Given the description of an element on the screen output the (x, y) to click on. 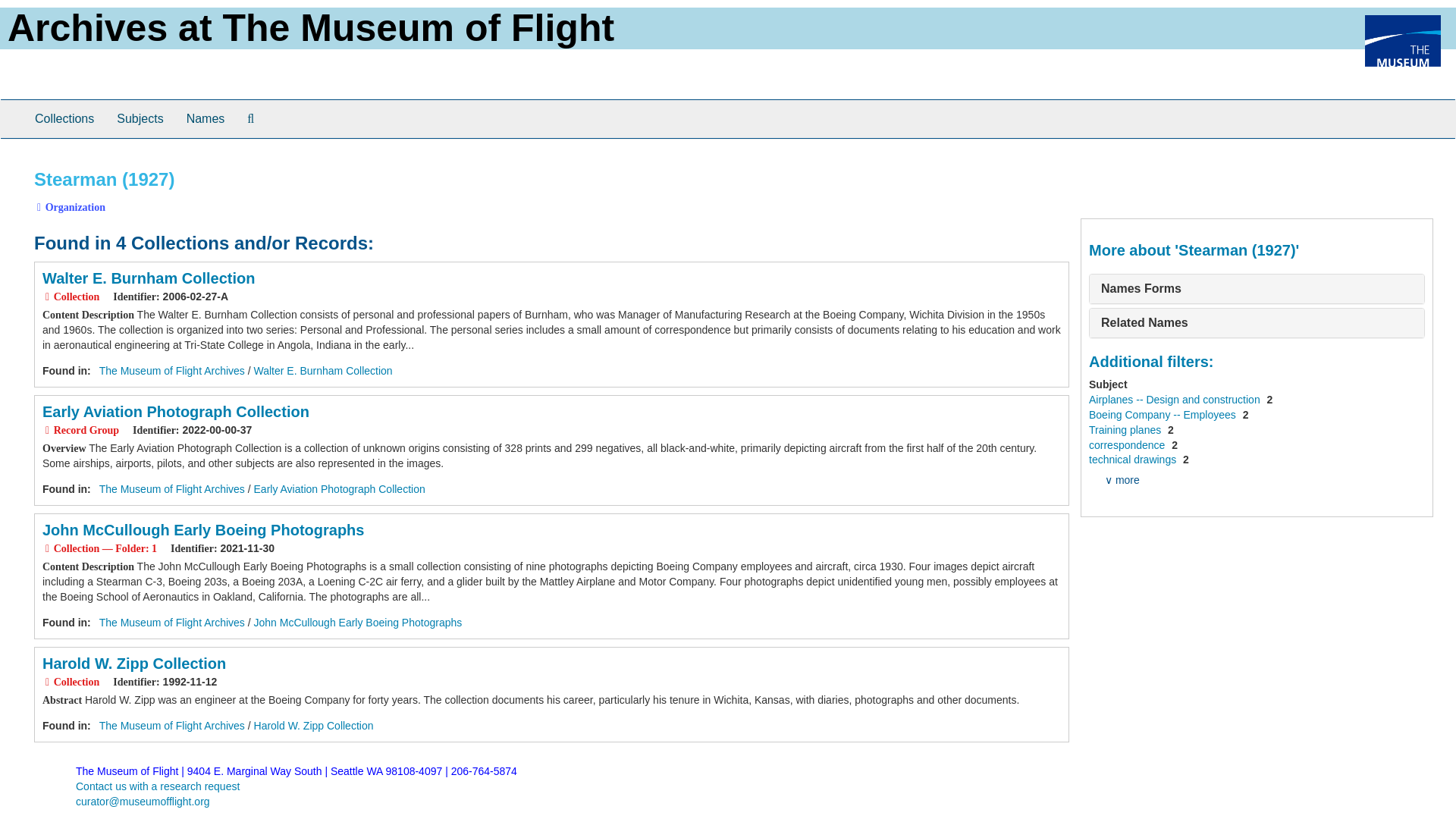
The Museum of Flight Archives (171, 725)
Subjects (139, 118)
Airplanes -- Design and construction (1176, 399)
technical drawings (1134, 459)
Early Aviation Photograph Collection (175, 411)
Filter By 'technical drawings' (1134, 459)
Harold W. Zipp Collection (313, 725)
Training planes (1126, 429)
Early Aviation Photograph Collection (339, 489)
The Museum of Flight Archives (171, 370)
